Given the description of an element on the screen output the (x, y) to click on. 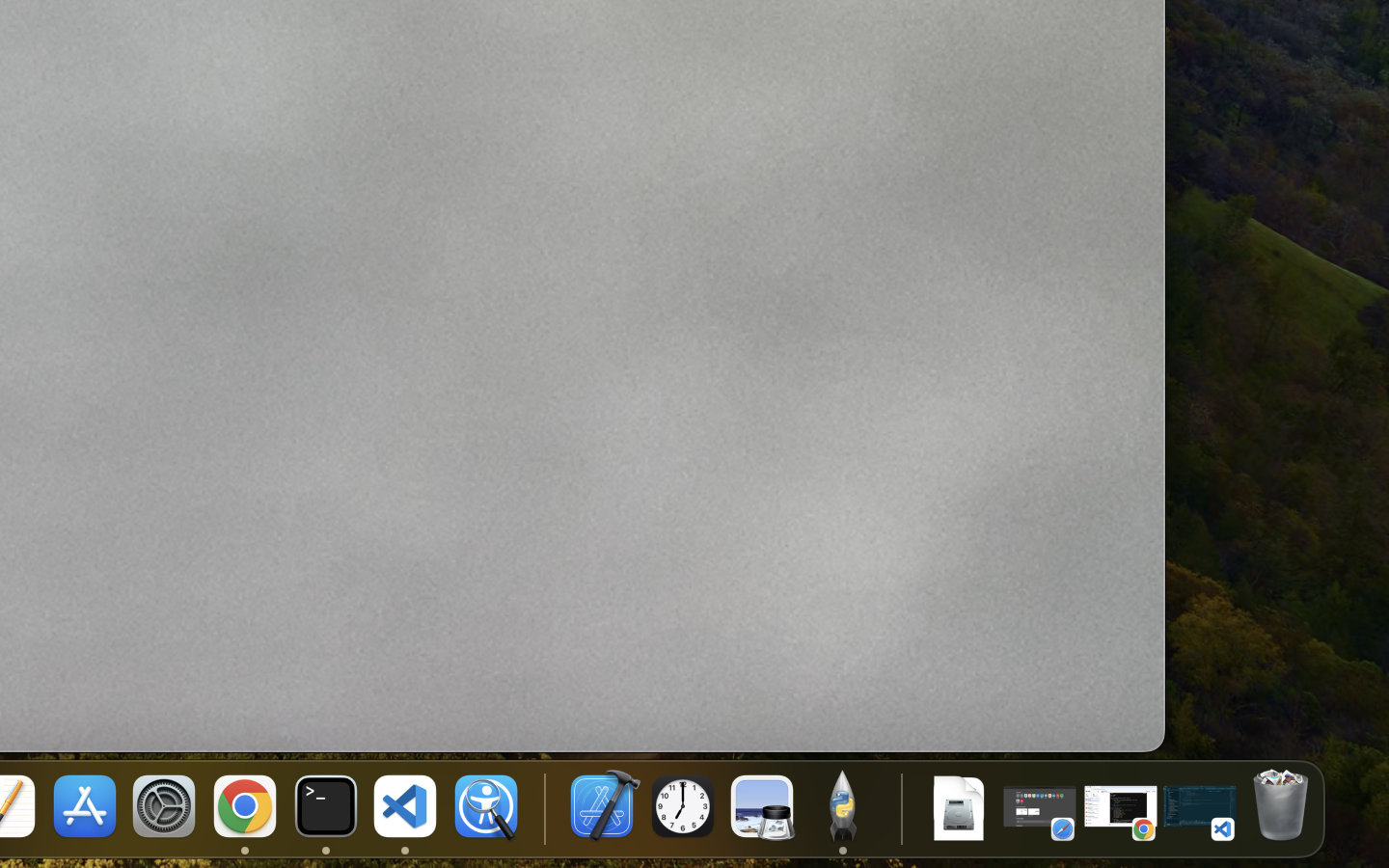
0.4285714328289032 Element type: AXDockItem (541, 807)
